Given the description of an element on the screen output the (x, y) to click on. 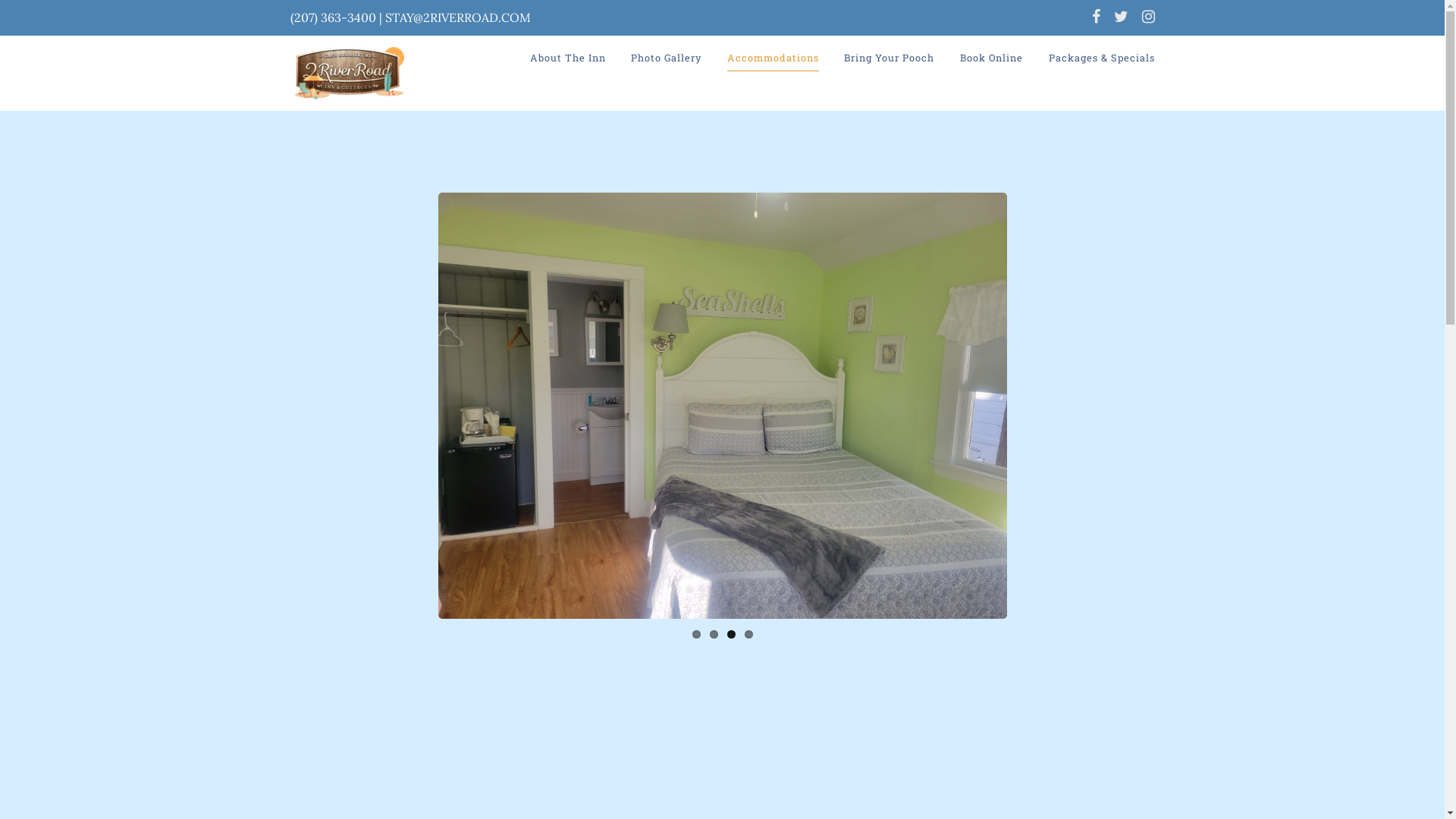
About The Inn Element type: text (567, 58)
Twitter Element type: hover (1120, 17)
Accommodations Element type: text (773, 58)
Book Online Element type: text (991, 58)
Bring Your Pooch Element type: text (889, 58)
Packages & Specials Element type: text (1101, 58)
Instagram Element type: hover (1144, 17)
Photo Gallery Element type: text (665, 58)
Facebook Element type: hover (1094, 17)
2023-05-05 17.46.47 Element type: hover (722, 405)
